Given the description of an element on the screen output the (x, y) to click on. 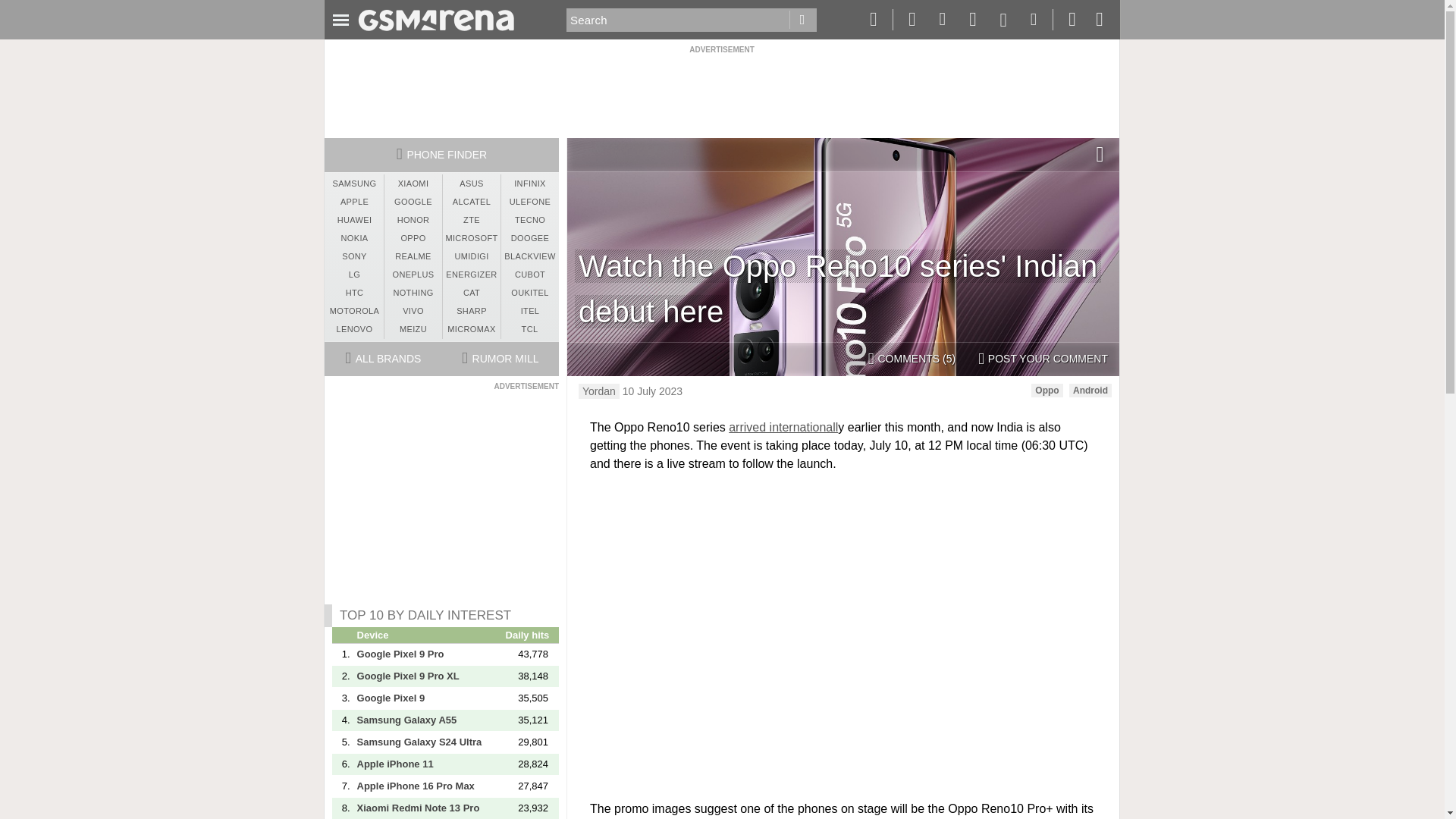
POST YOUR COMMENT (1042, 359)
Oppo (1046, 390)
arrived internationall (783, 427)
Yordan (599, 391)
Android (1090, 390)
Go (802, 19)
Go (802, 19)
